Given the description of an element on the screen output the (x, y) to click on. 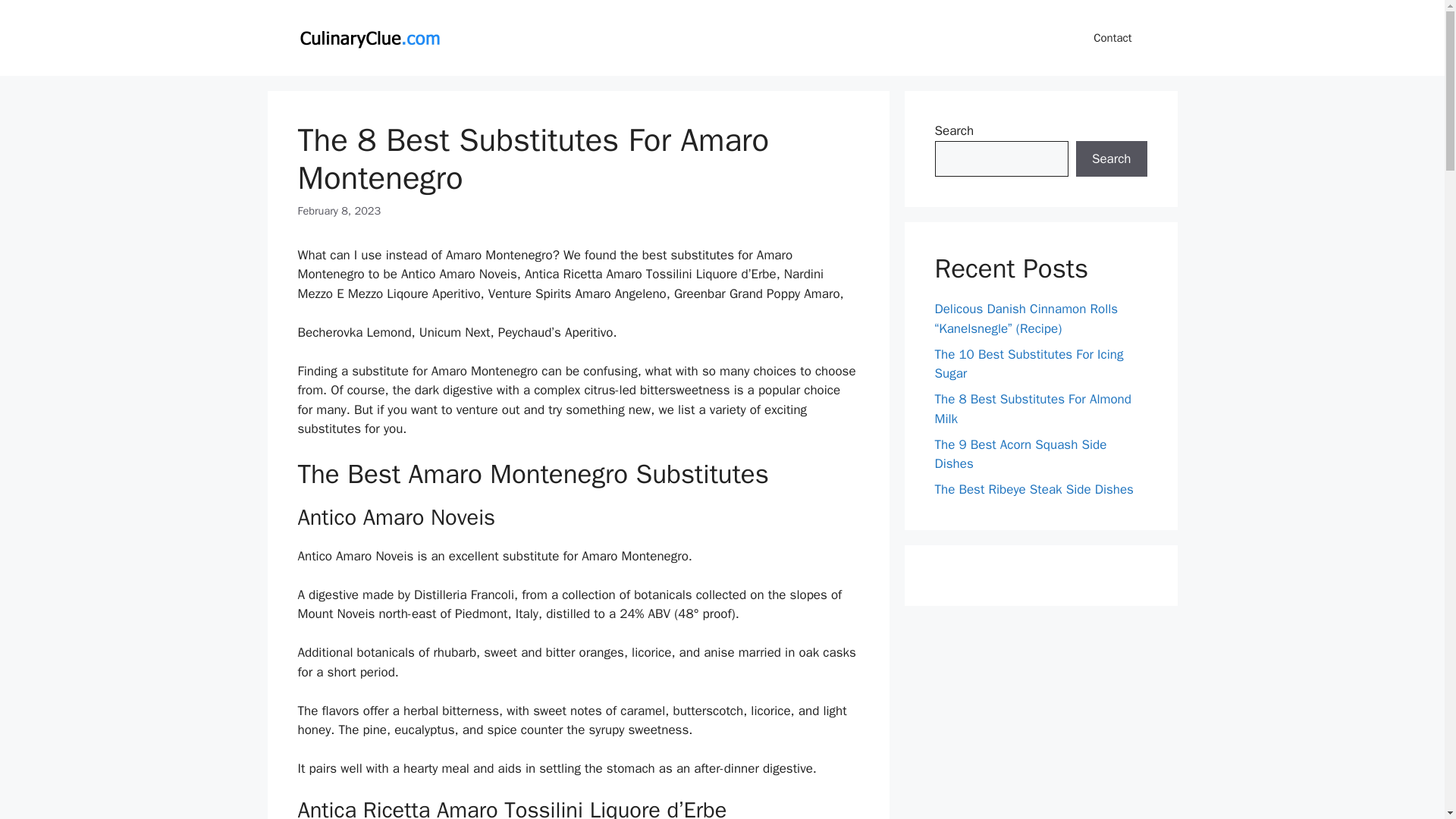
The 9 Best Acorn Squash Side Dishes (1020, 454)
The 10 Best Substitutes For Icing Sugar (1028, 363)
Contact (1112, 37)
The Best Ribeye Steak Side Dishes (1033, 489)
CulinaryClue.com (369, 37)
Search (1111, 158)
CulinaryClue.com (369, 36)
The 8 Best Substitutes For Almond Milk (1032, 408)
